Given the description of an element on the screen output the (x, y) to click on. 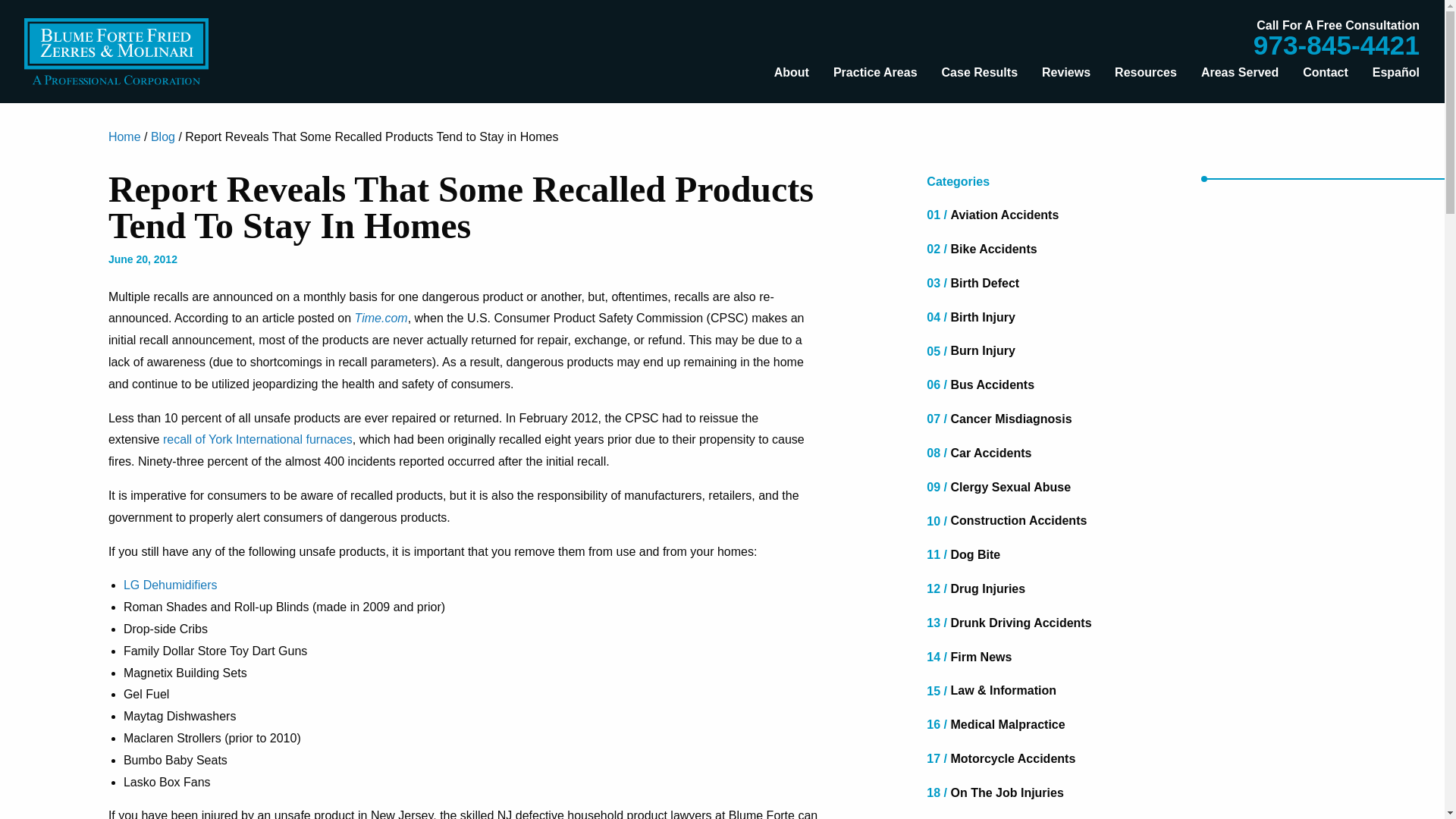
About (791, 72)
Practice Areas (875, 72)
